Given the description of an element on the screen output the (x, y) to click on. 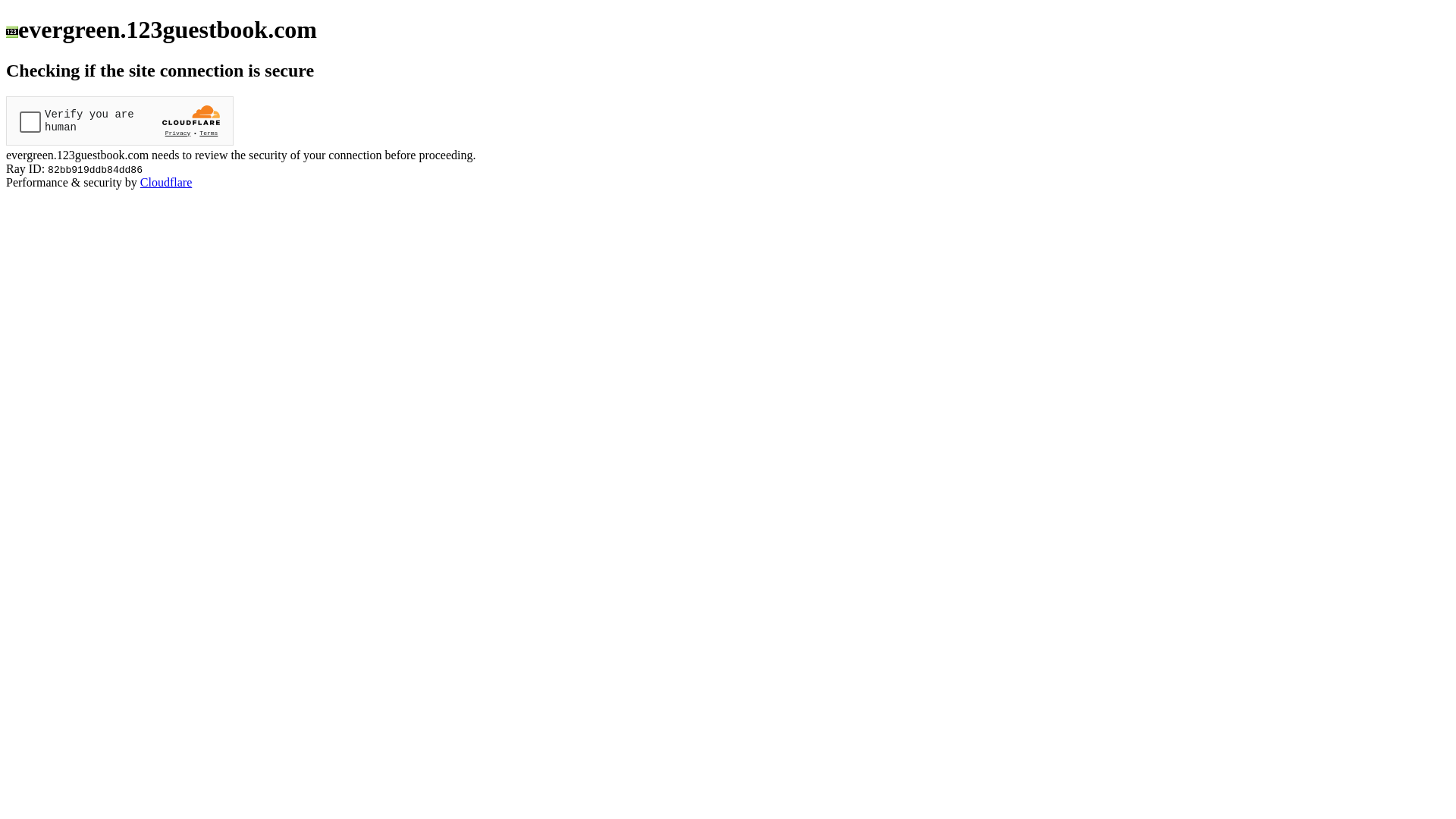
Widget containing a Cloudflare security challenge Element type: hover (119, 120)
Cloudflare Element type: text (165, 181)
